Given the description of an element on the screen output the (x, y) to click on. 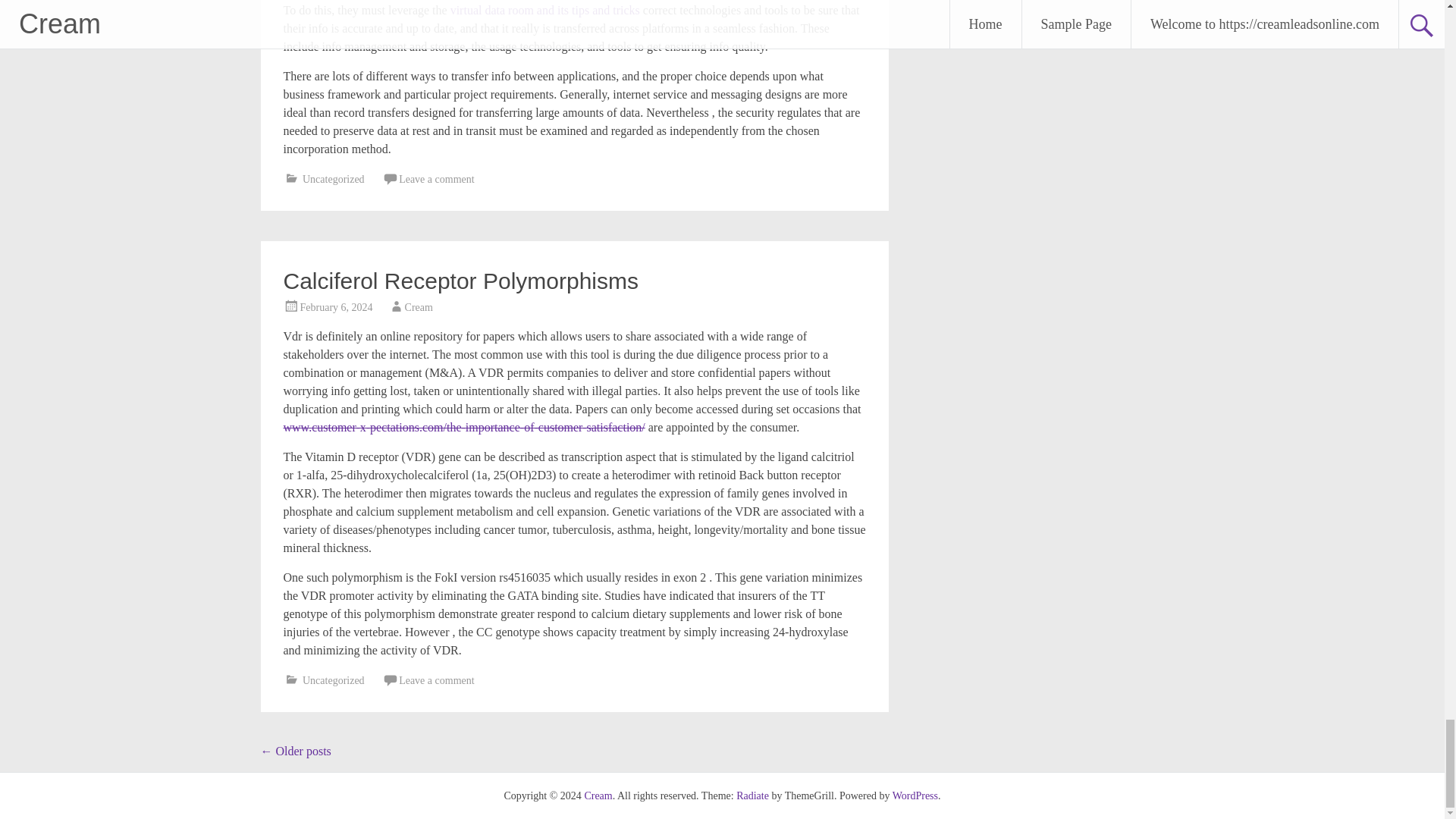
Radiate (752, 795)
Cream (597, 795)
WordPress (914, 795)
